Given the description of an element on the screen output the (x, y) to click on. 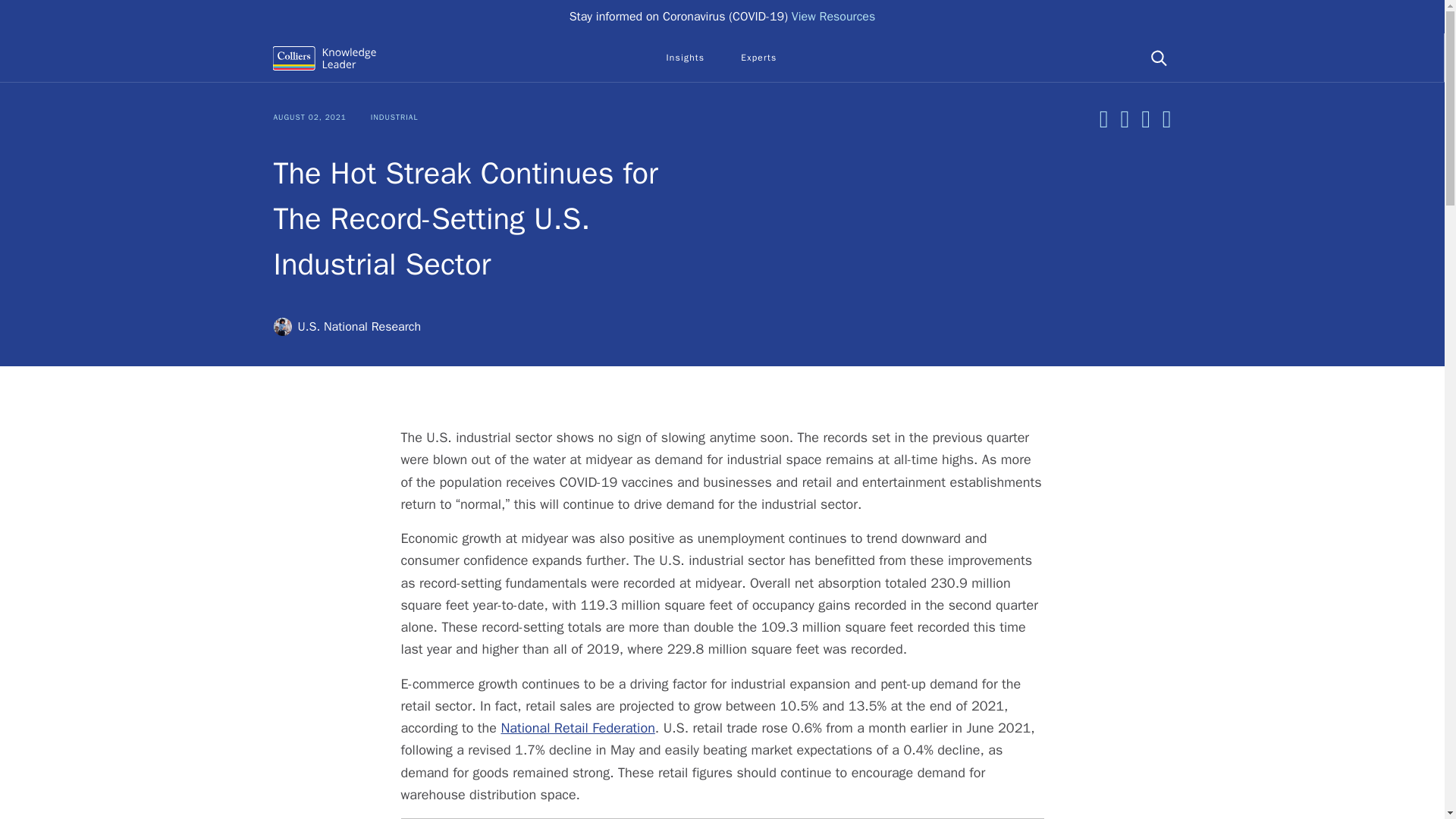
Experts (758, 58)
INDUSTRIAL (395, 117)
National Retail Federation (576, 727)
View Resources (834, 16)
U.S. National Research (346, 326)
Insights (684, 58)
